Given the description of an element on the screen output the (x, y) to click on. 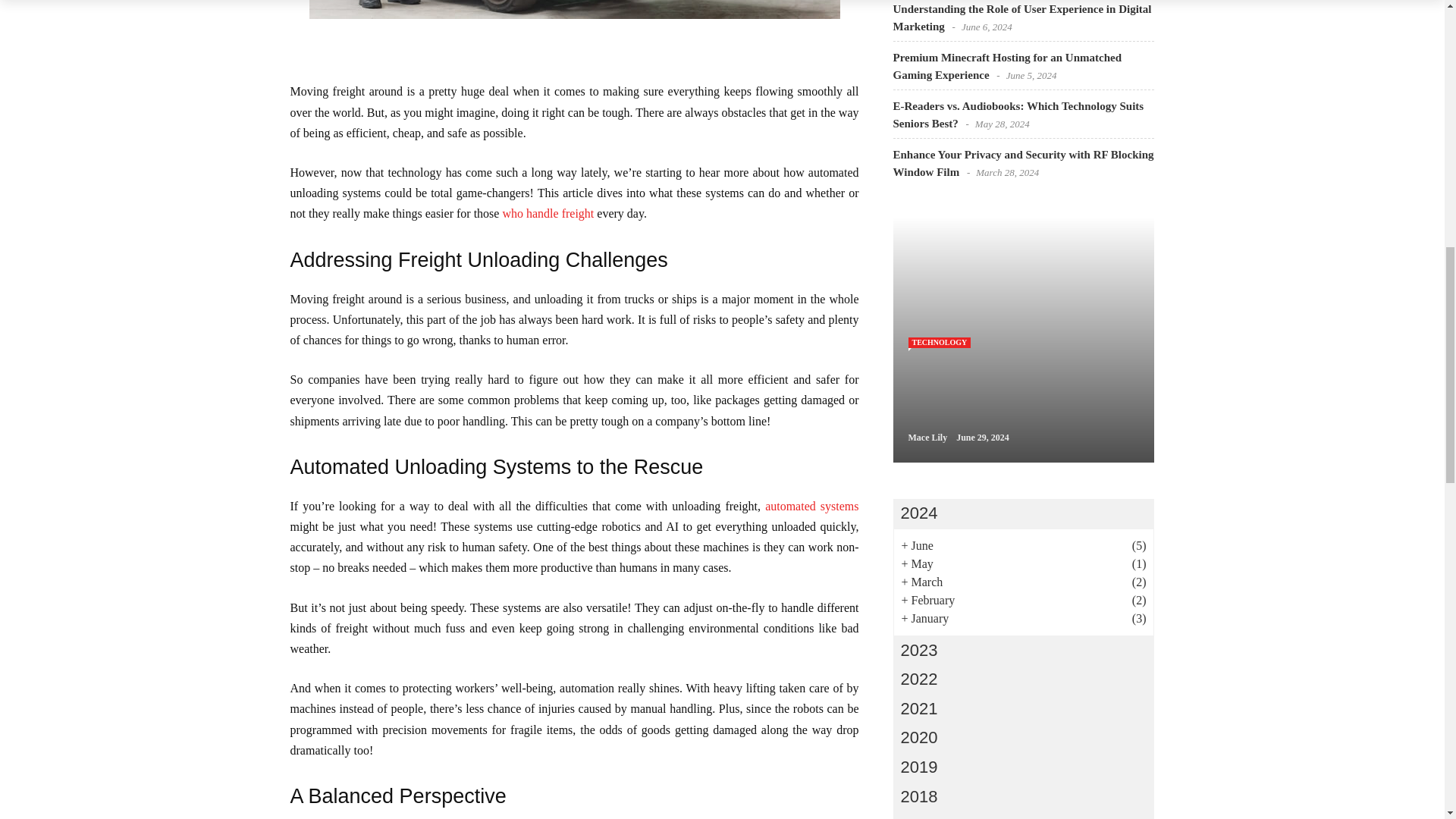
who handle freight (548, 213)
automated systems (812, 505)
